Given the description of an element on the screen output the (x, y) to click on. 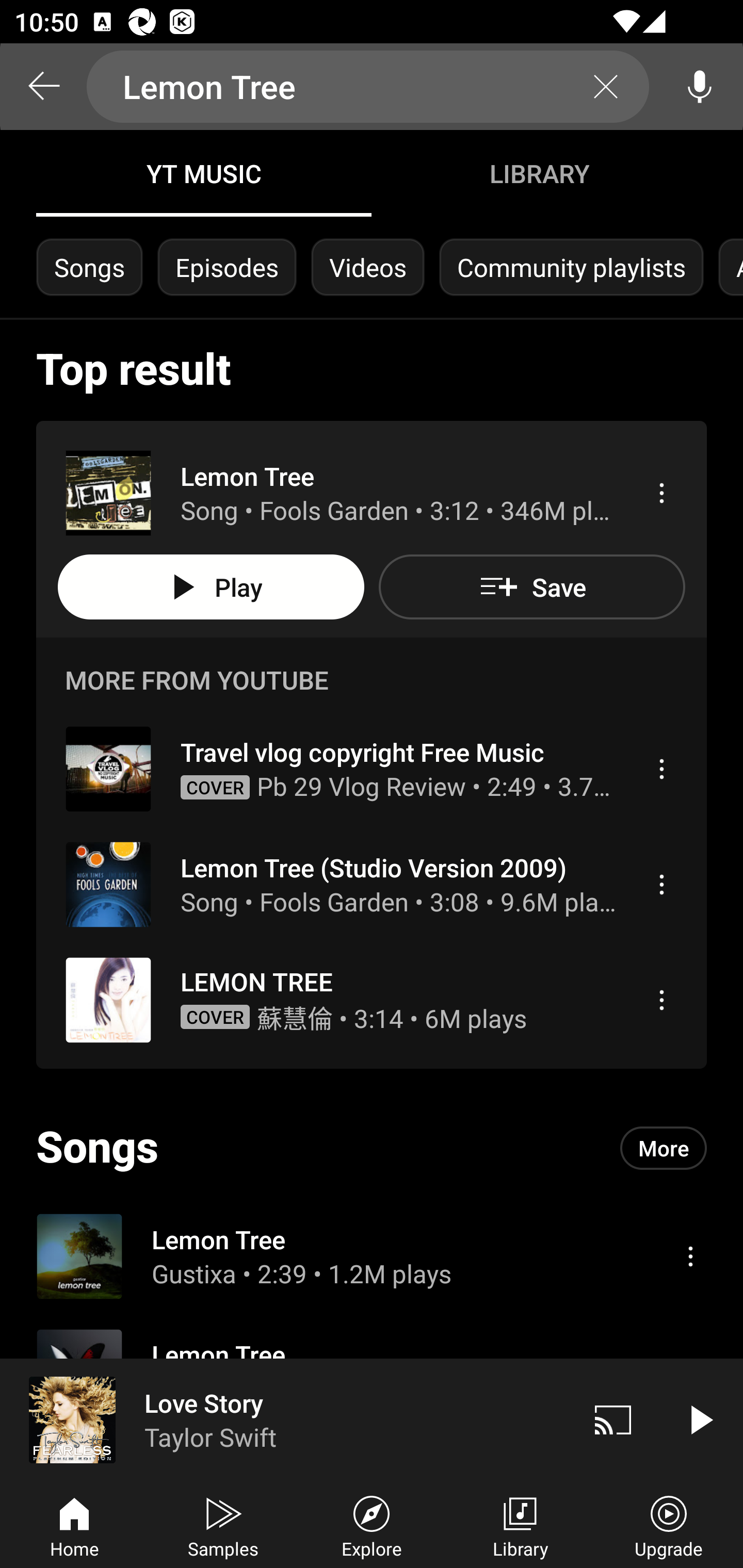
Search back (43, 86)
Lemon Tree (367, 86)
Clear search (605, 86)
Voice search (699, 86)
Library LIBRARY (538, 173)
Menu (661, 492)
Play PLAY ALL (210, 587)
Save Save to playlist (531, 587)
Menu (661, 768)
Menu (661, 884)
Menu (661, 1000)
Songs More More (371, 1147)
More (663, 1147)
Menu (690, 1255)
Love Story Taylor Swift (284, 1419)
Cast. Disconnected (612, 1419)
Play video (699, 1419)
Home (74, 1524)
Samples (222, 1524)
Explore (371, 1524)
Library (519, 1524)
Upgrade (668, 1524)
